Given the description of an element on the screen output the (x, y) to click on. 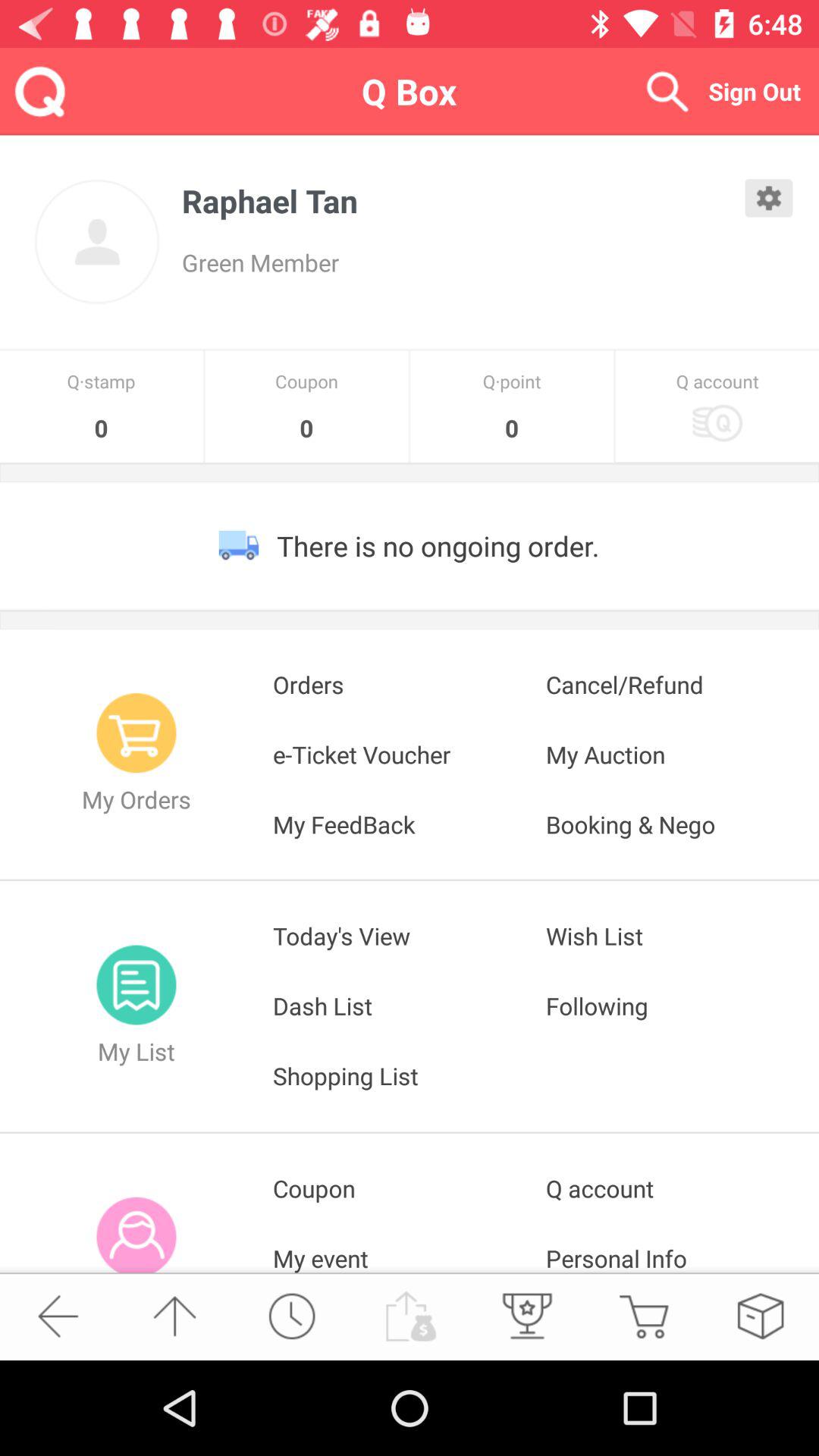
go up (174, 1316)
